Given the description of an element on the screen output the (x, y) to click on. 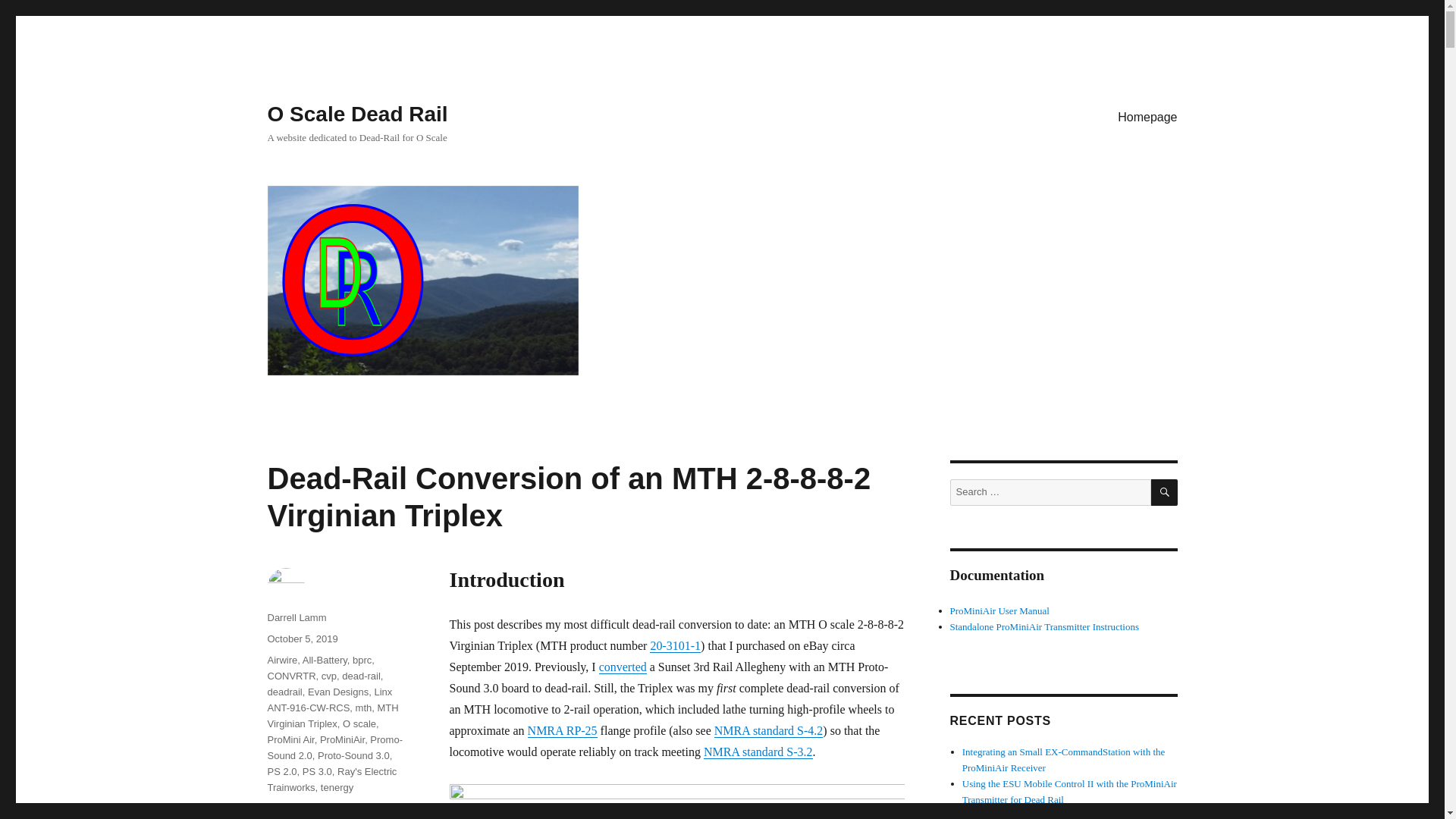
NMRA RP-25 (561, 730)
converted (622, 666)
Darrell Lamm (296, 617)
Airwire (281, 659)
October 5, 2019 (301, 638)
NMRA standard S-4.2 (769, 730)
O Scale Dead Rail (356, 114)
NMRA standard S-3.2 (757, 751)
All-Battery (324, 659)
Homepage (1147, 116)
20-3101-1 (674, 645)
